Given the description of an element on the screen output the (x, y) to click on. 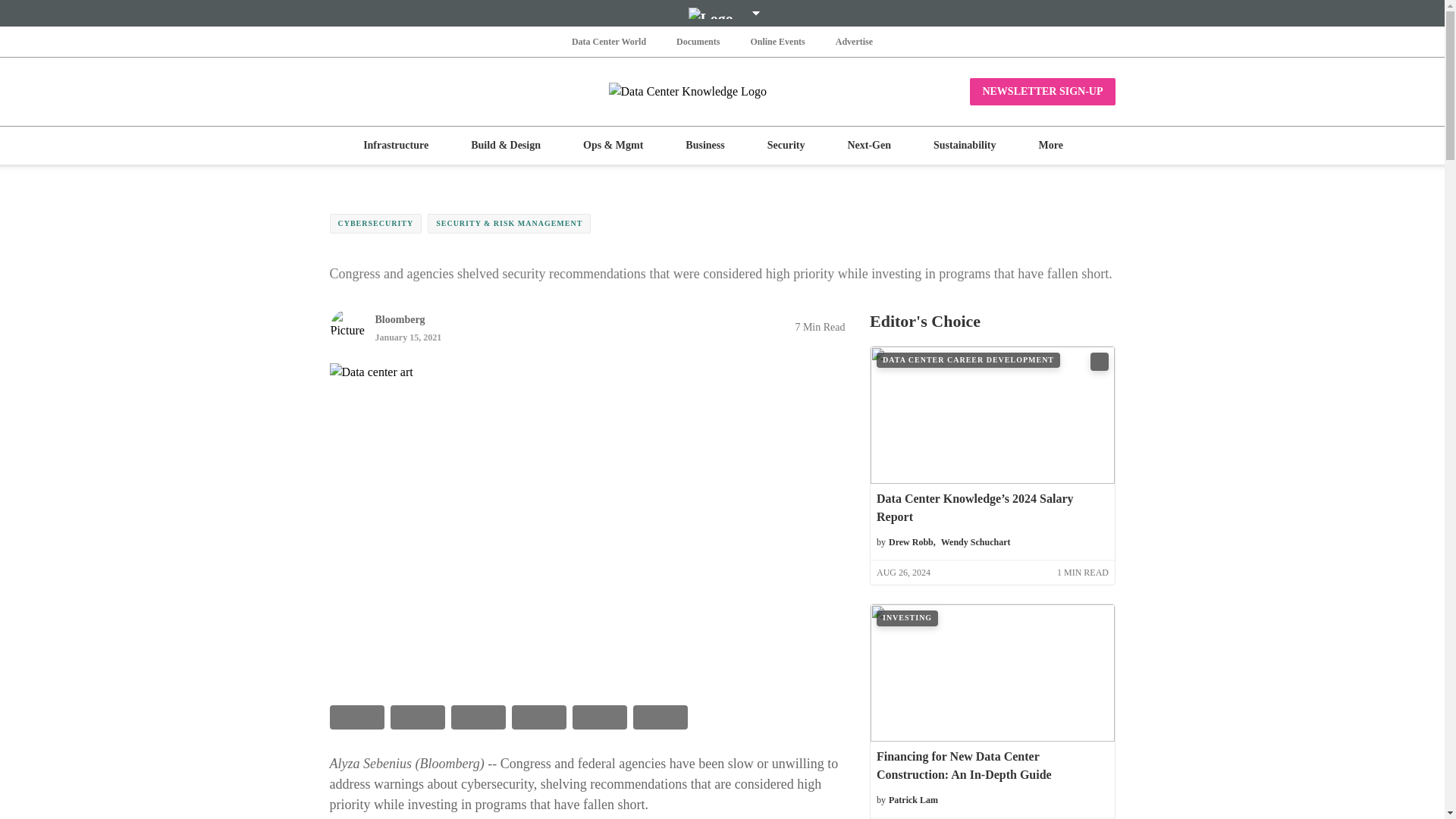
Picture of Bloomberg (347, 326)
Online Events (777, 41)
Data Center Knowledge Logo (721, 91)
NEWSLETTER SIGN-UP (1042, 90)
Data Center World (609, 41)
Advertise (854, 41)
Documents (697, 41)
